Given the description of an element on the screen output the (x, y) to click on. 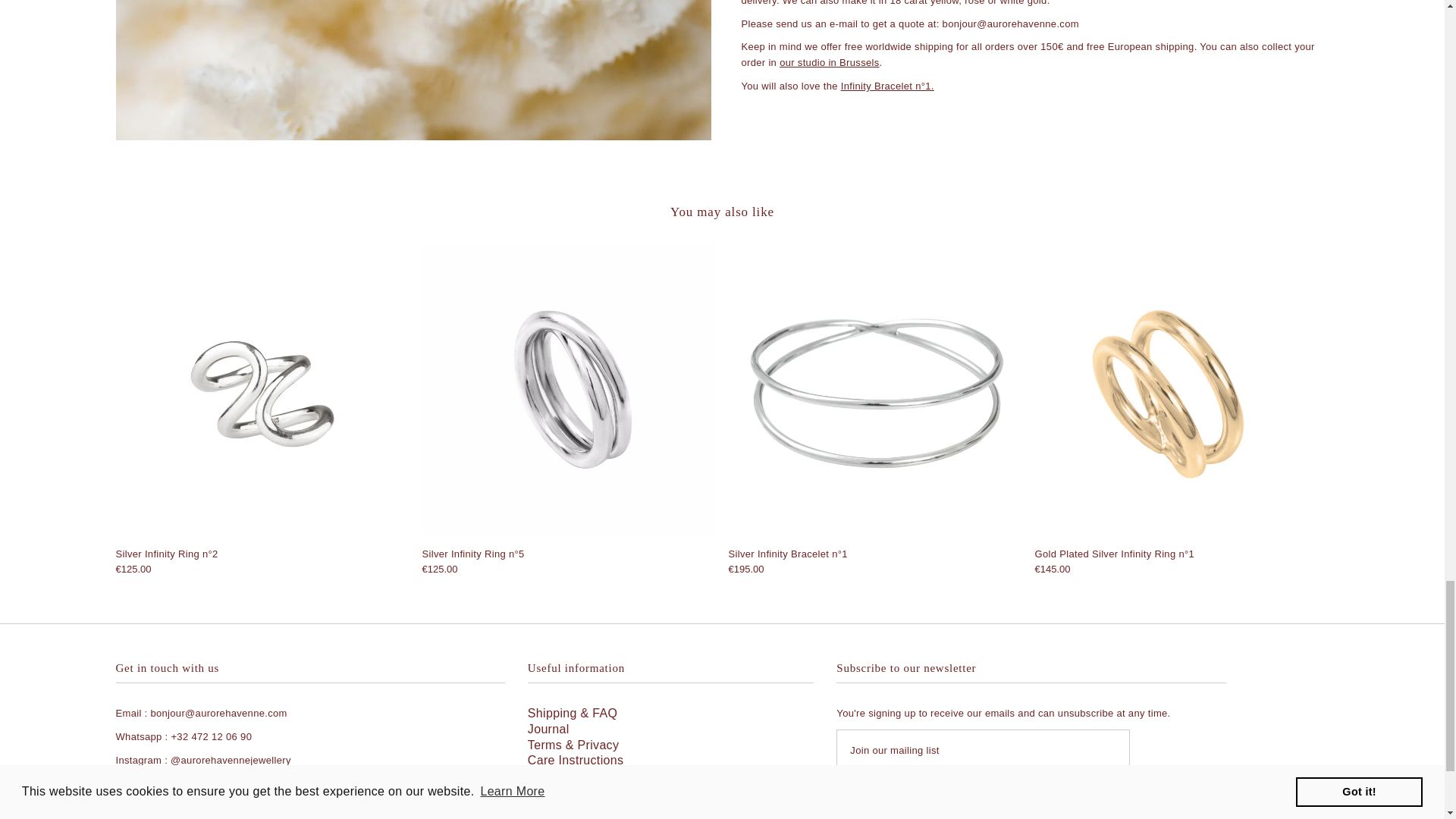
Join (884, 792)
